Given the description of an element on the screen output the (x, y) to click on. 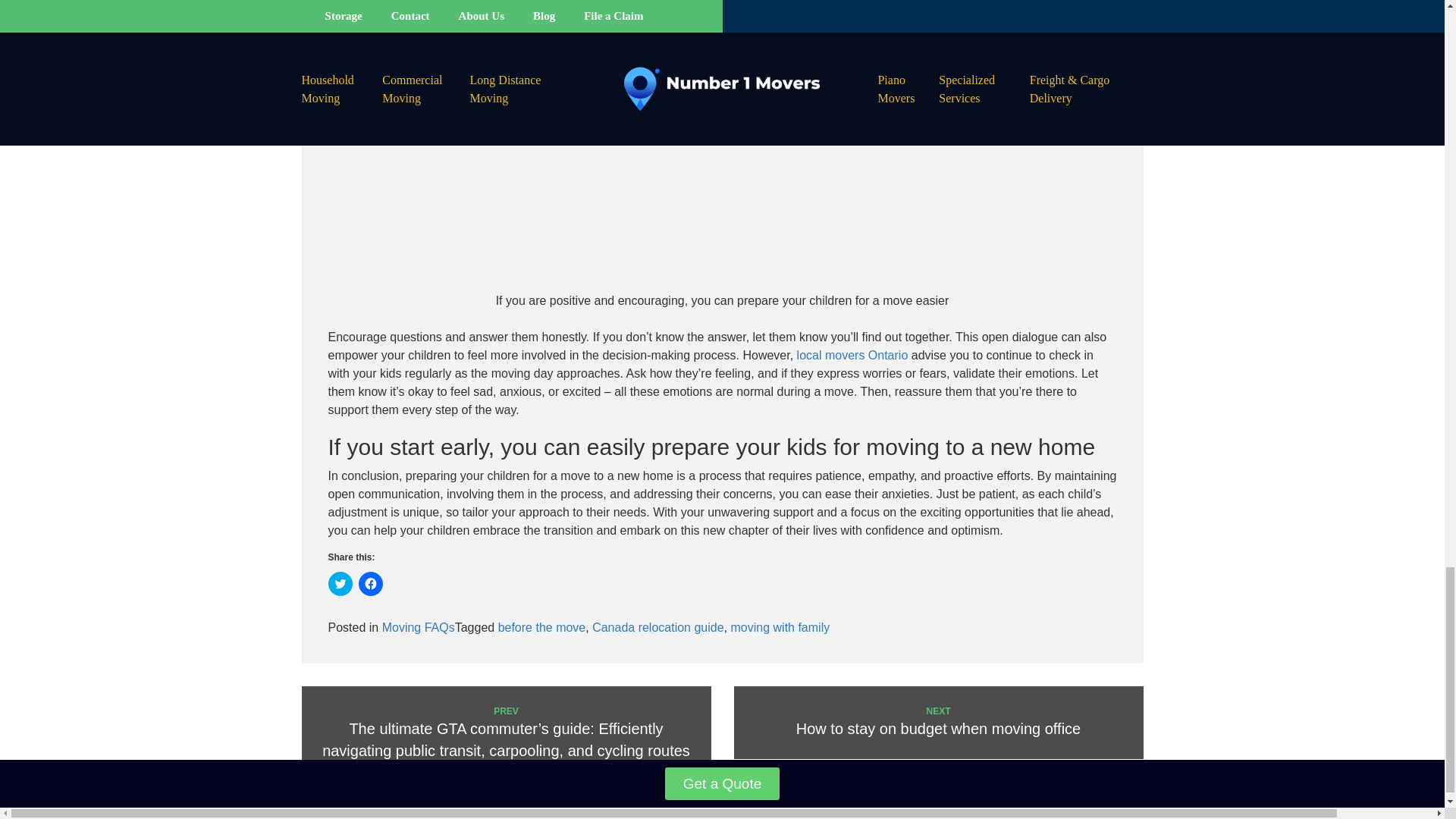
Click to share on Twitter (339, 583)
Canada relocation guide (937, 722)
before the move (657, 626)
moving with family (541, 626)
Click to share on Facebook (779, 626)
local movers Ontario (369, 583)
Moving FAQs (852, 354)
